Given the description of an element on the screen output the (x, y) to click on. 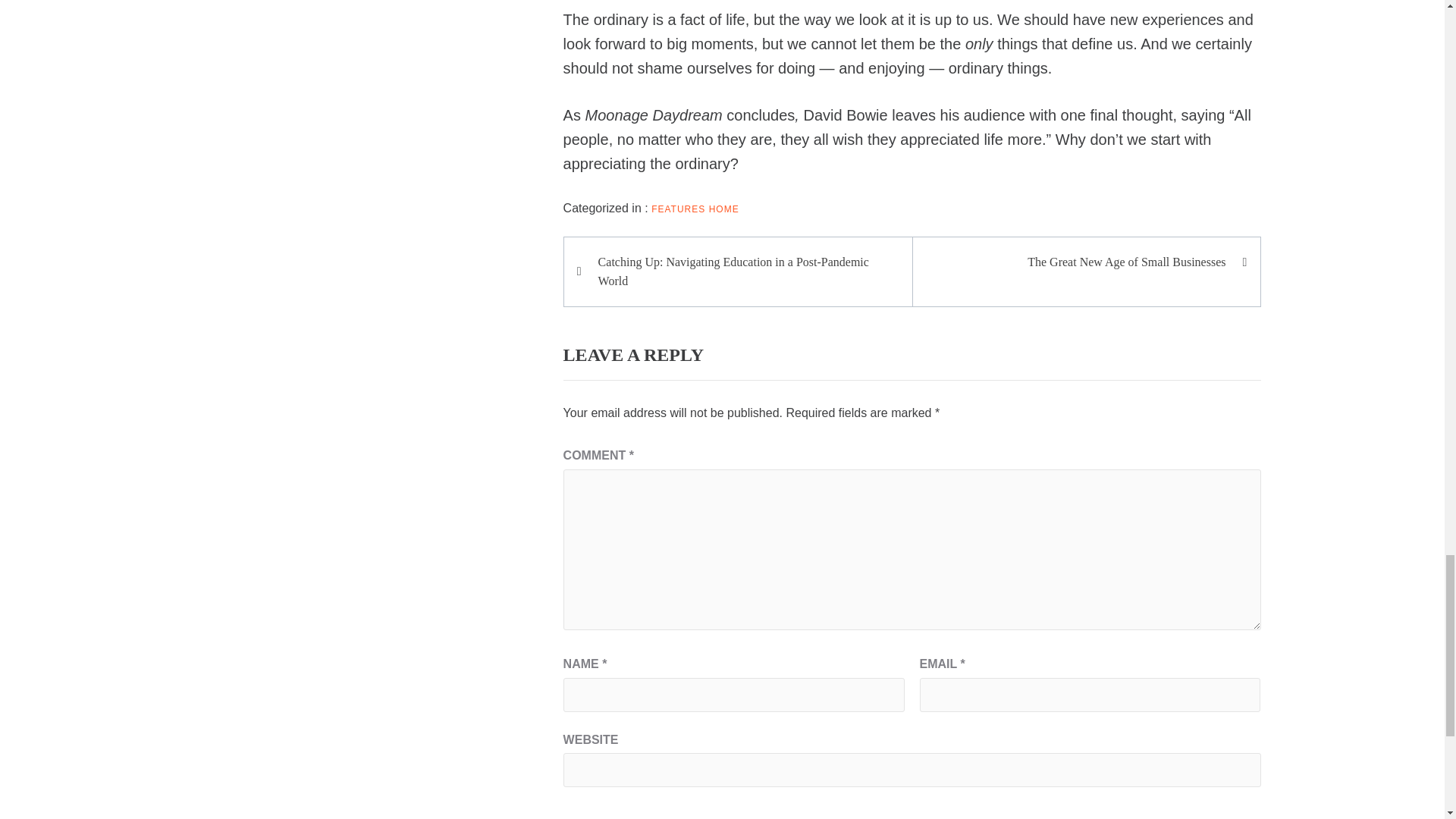
yes (568, 813)
HOME (724, 208)
The Great New Age of Small Businesses (1078, 261)
FEATURES (677, 208)
Catching Up: Navigating Education in a Post-Pandemic World (745, 271)
